Given the description of an element on the screen output the (x, y) to click on. 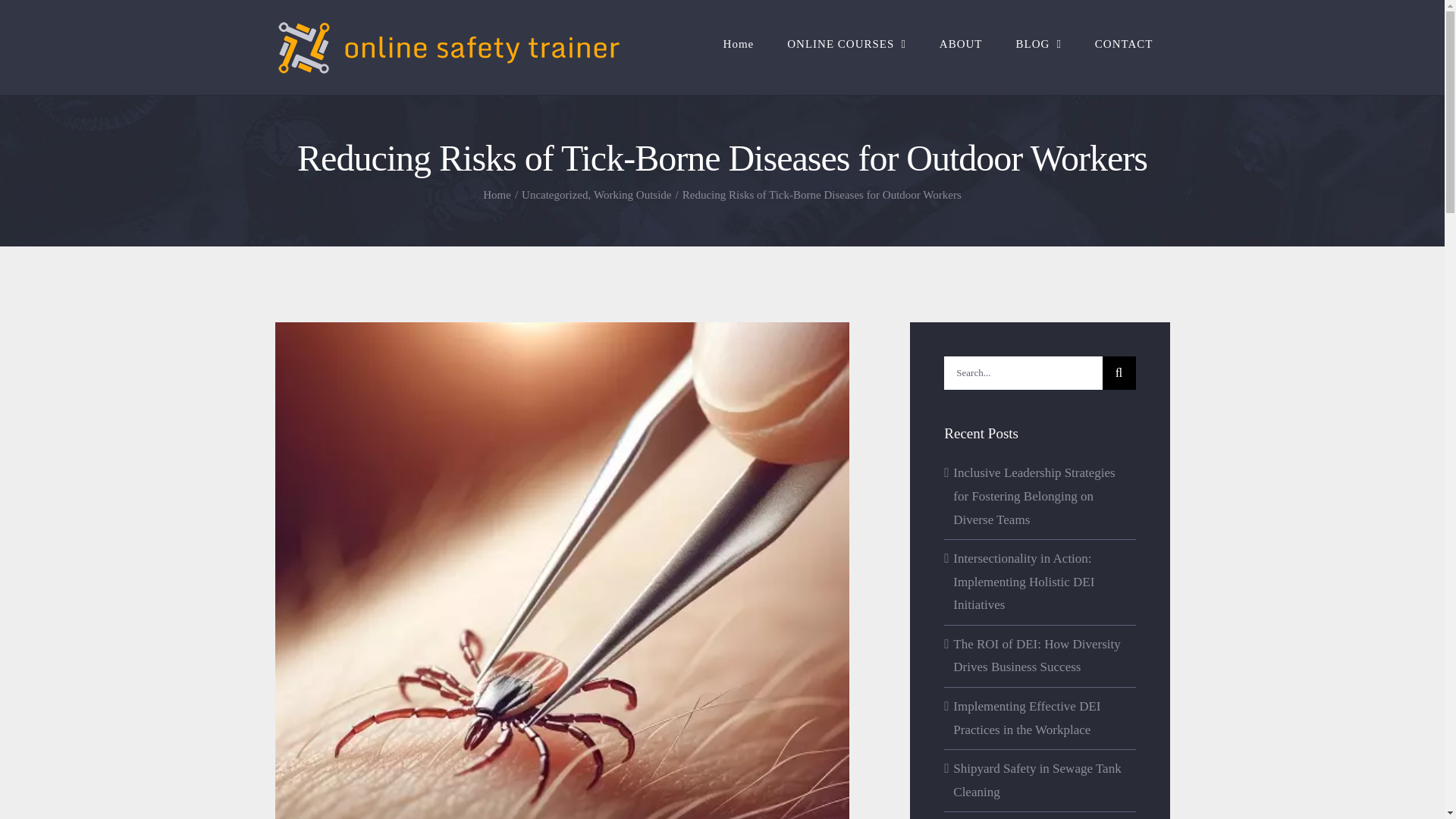
BLOG (1038, 43)
ONLINE COURSES (846, 43)
CONTACT (1124, 43)
